Given the description of an element on the screen output the (x, y) to click on. 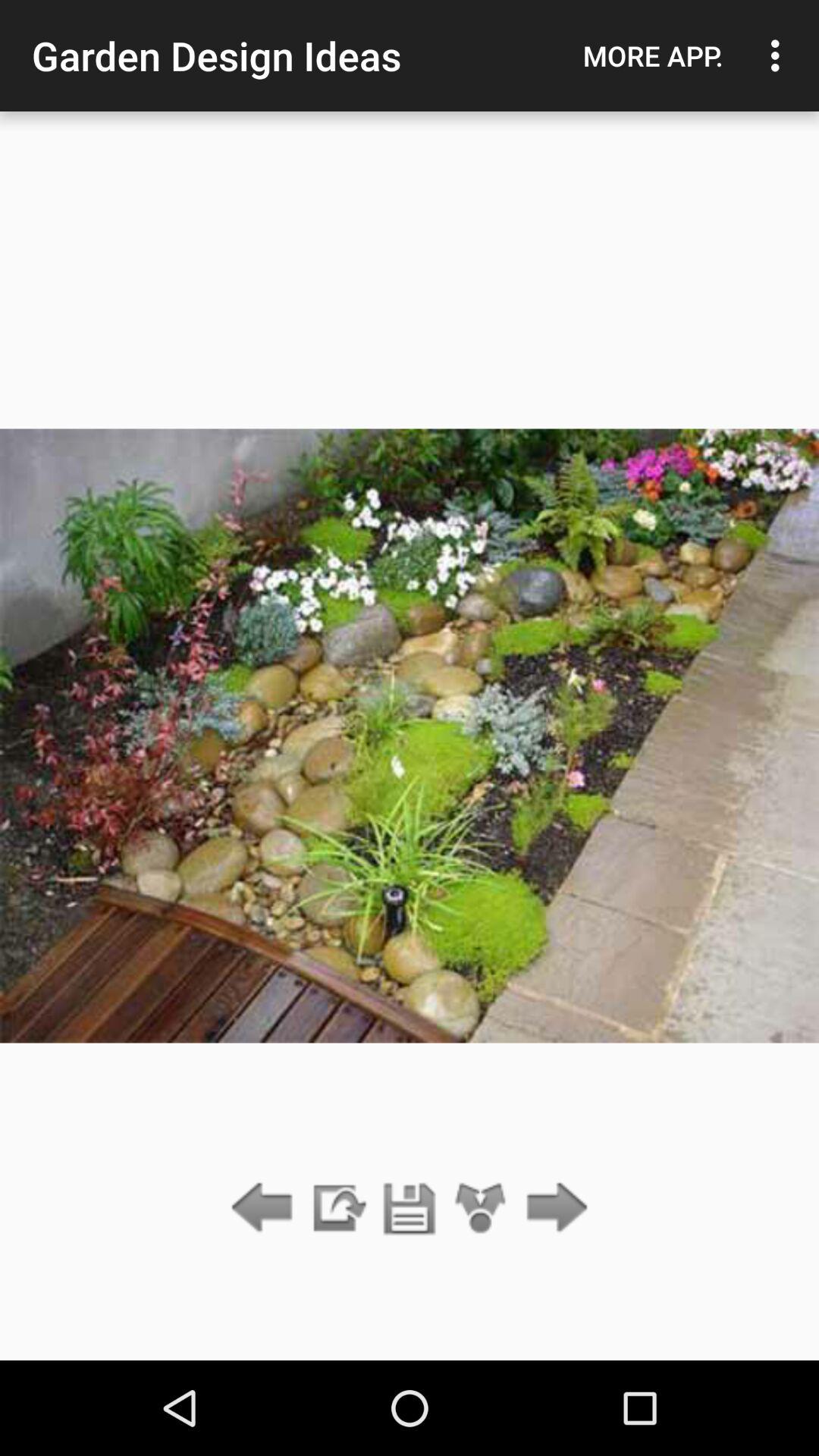
save option (409, 1208)
